Given the description of an element on the screen output the (x, y) to click on. 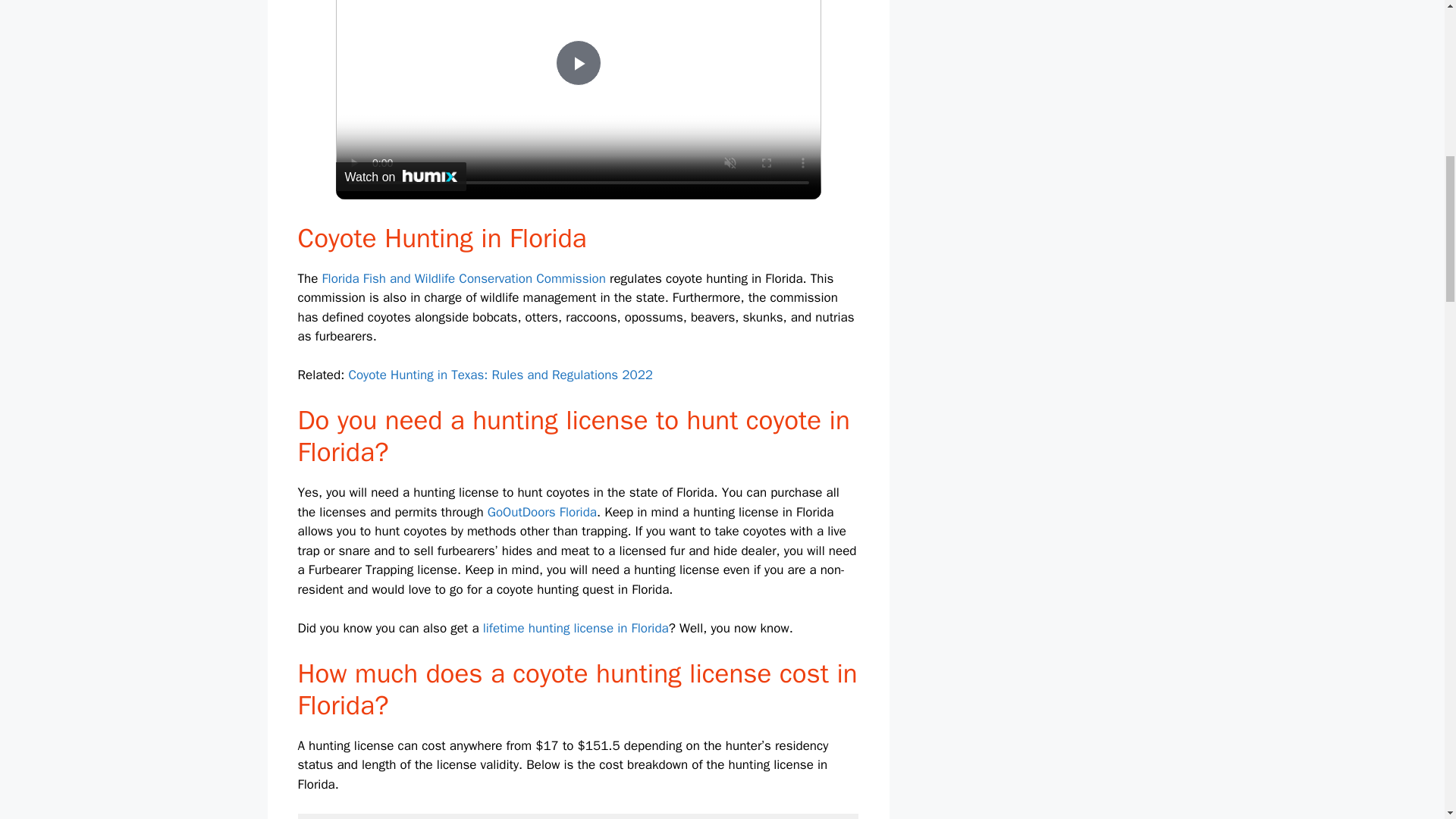
Play Video (576, 62)
Coyote Hunting in Texas: Rules and Regulations 2022 (499, 374)
Play Video (576, 62)
Watch on (399, 176)
lifetime hunting license in Florida (575, 627)
GoOutDoors Florida (541, 512)
Florida Fish and Wildlife Conservation Commission (463, 278)
